Given the description of an element on the screen output the (x, y) to click on. 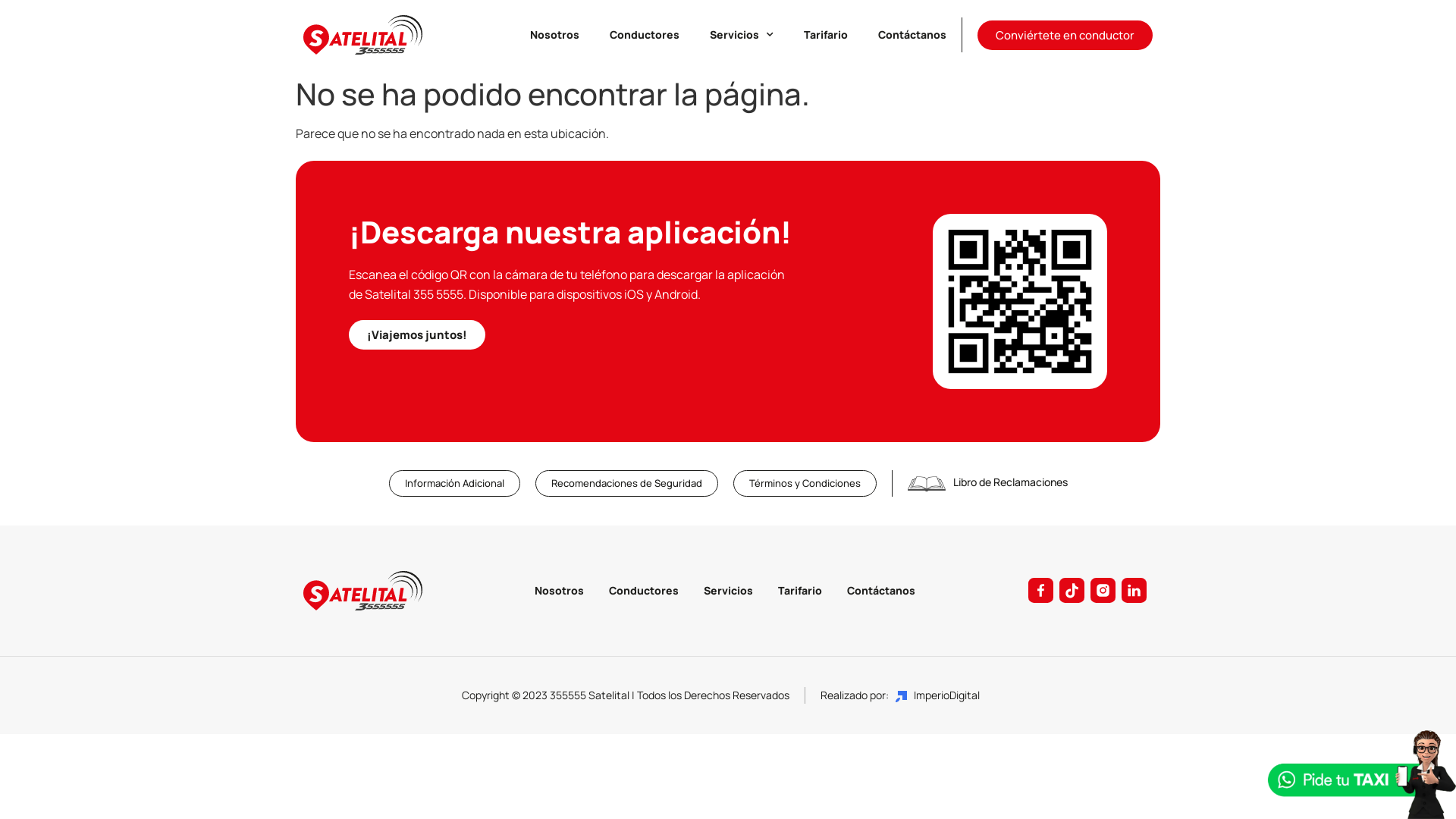
Recomendaciones de Seguridad Element type: text (626, 483)
Tarifario Element type: text (800, 590)
Conductores Element type: text (644, 34)
Nosotros Element type: text (554, 34)
Tarifario Element type: text (825, 34)
  ImperioDigital Element type: text (936, 694)
Servicios Element type: text (728, 590)
Conductores Element type: text (643, 590)
Libro de Reclamaciones Element type: text (1009, 481)
Nosotros Element type: text (558, 590)
Servicios Element type: text (741, 34)
